Given the description of an element on the screen output the (x, y) to click on. 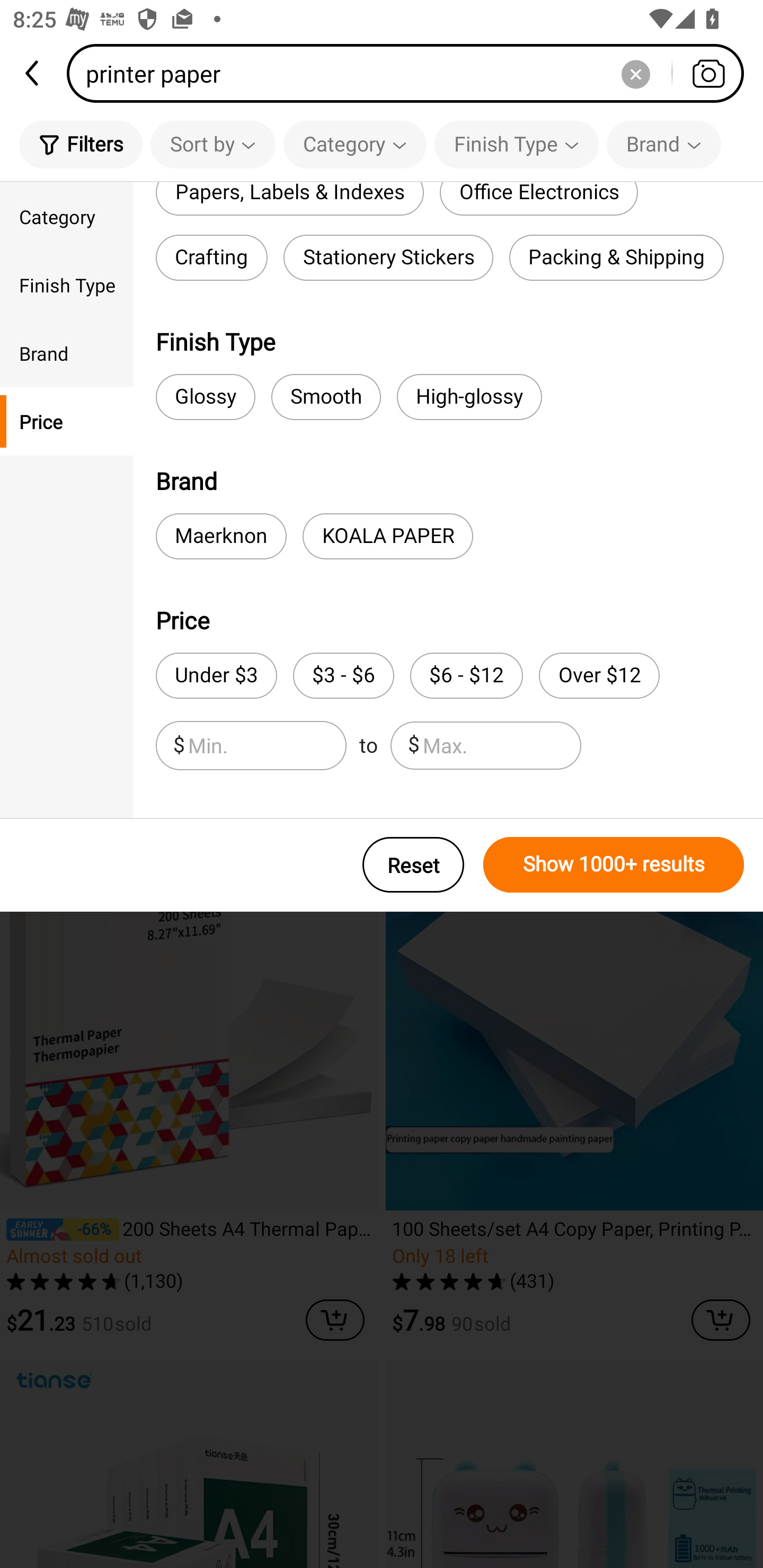
back (33, 72)
printer paper (411, 73)
Delete search history (635, 73)
Search by photo (708, 73)
Filters (80, 143)
Sort by (212, 143)
Category (354, 143)
Finish Type (516, 143)
Brand (663, 143)
Category (66, 215)
Papers, Labels & Indexes (289, 198)
Office Electronics (538, 198)
Crafting (211, 257)
Stationery Stickers (388, 257)
Packing & Shipping (616, 257)
Finish Type (66, 284)
Brand (66, 352)
Glossy (205, 397)
Smooth (325, 397)
High-glossy (468, 397)
Price (66, 421)
Maerknon (220, 535)
KOALA PAPER (387, 535)
Under $3 (215, 675)
$3 - $6 (343, 675)
$6 - $12 (466, 675)
Over $12 (598, 675)
$ Min. to $ Max. (368, 745)
Reset (412, 864)
Show 1000+ results (612, 864)
